Given the description of an element on the screen output the (x, y) to click on. 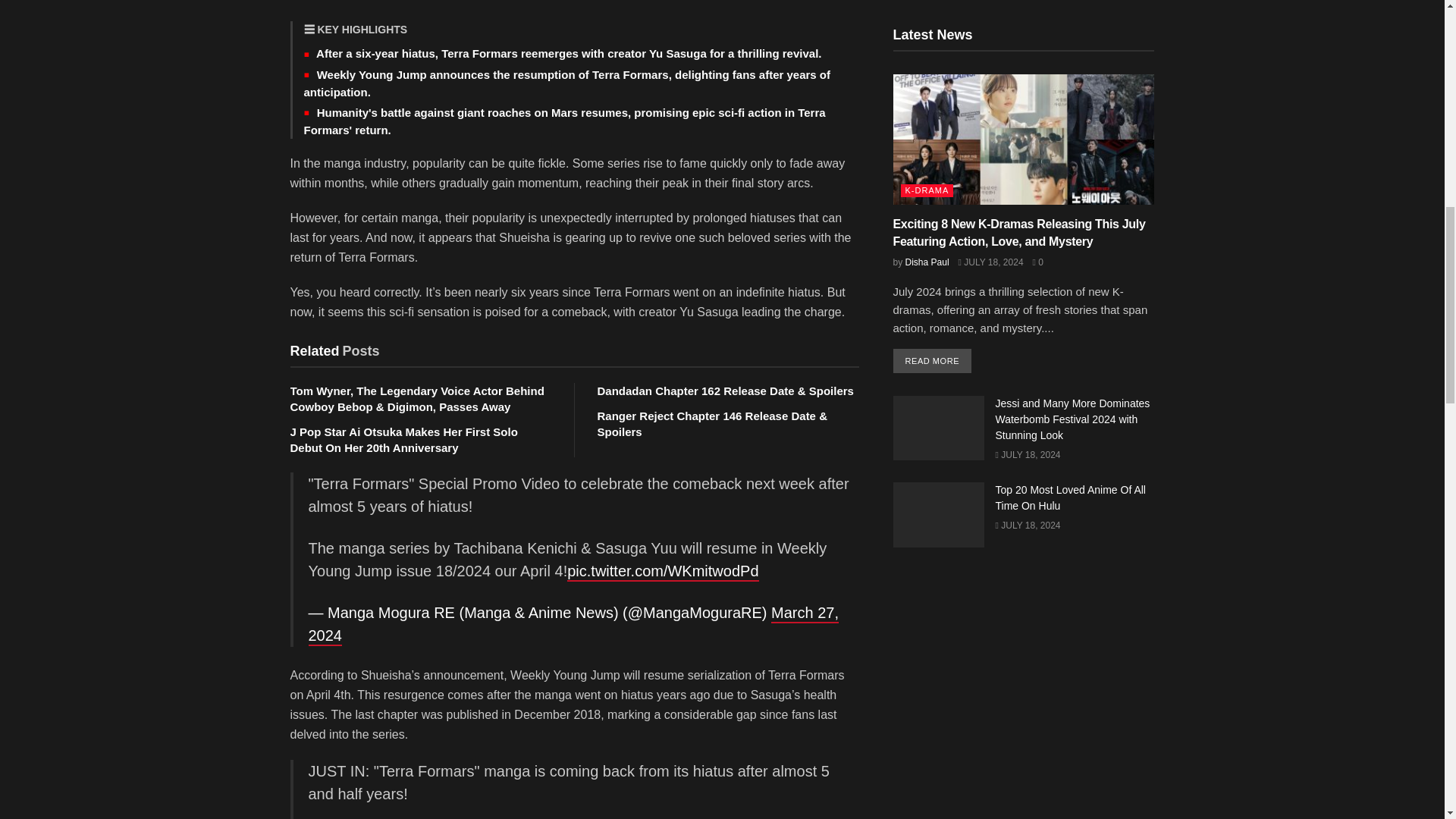
March 27, 2024 (572, 625)
